Given the description of an element on the screen output the (x, y) to click on. 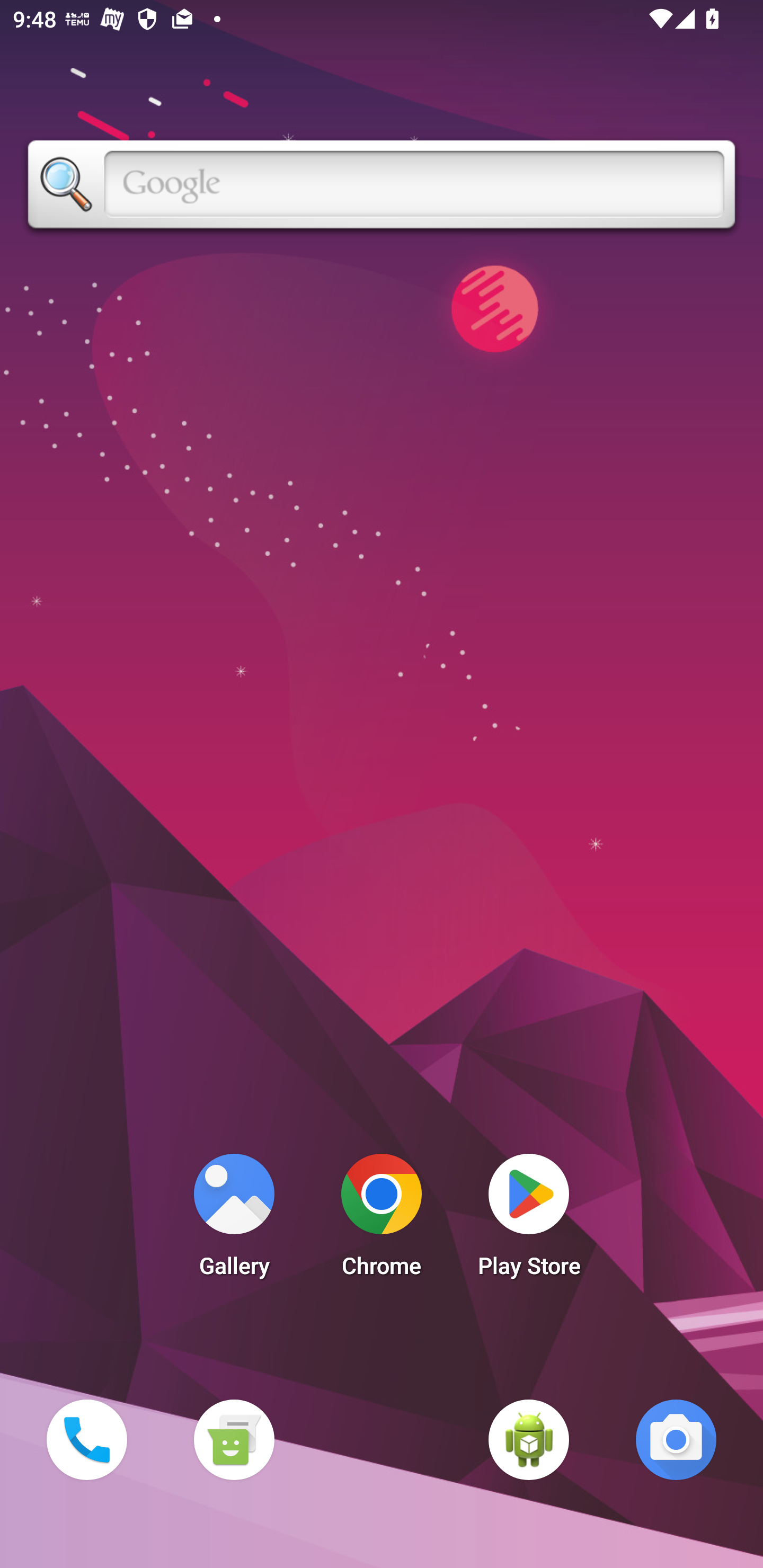
Gallery (233, 1220)
Chrome (381, 1220)
Play Store (528, 1220)
Phone (86, 1439)
Messaging (233, 1439)
WebView Browser Tester (528, 1439)
Camera (676, 1439)
